Given the description of an element on the screen output the (x, y) to click on. 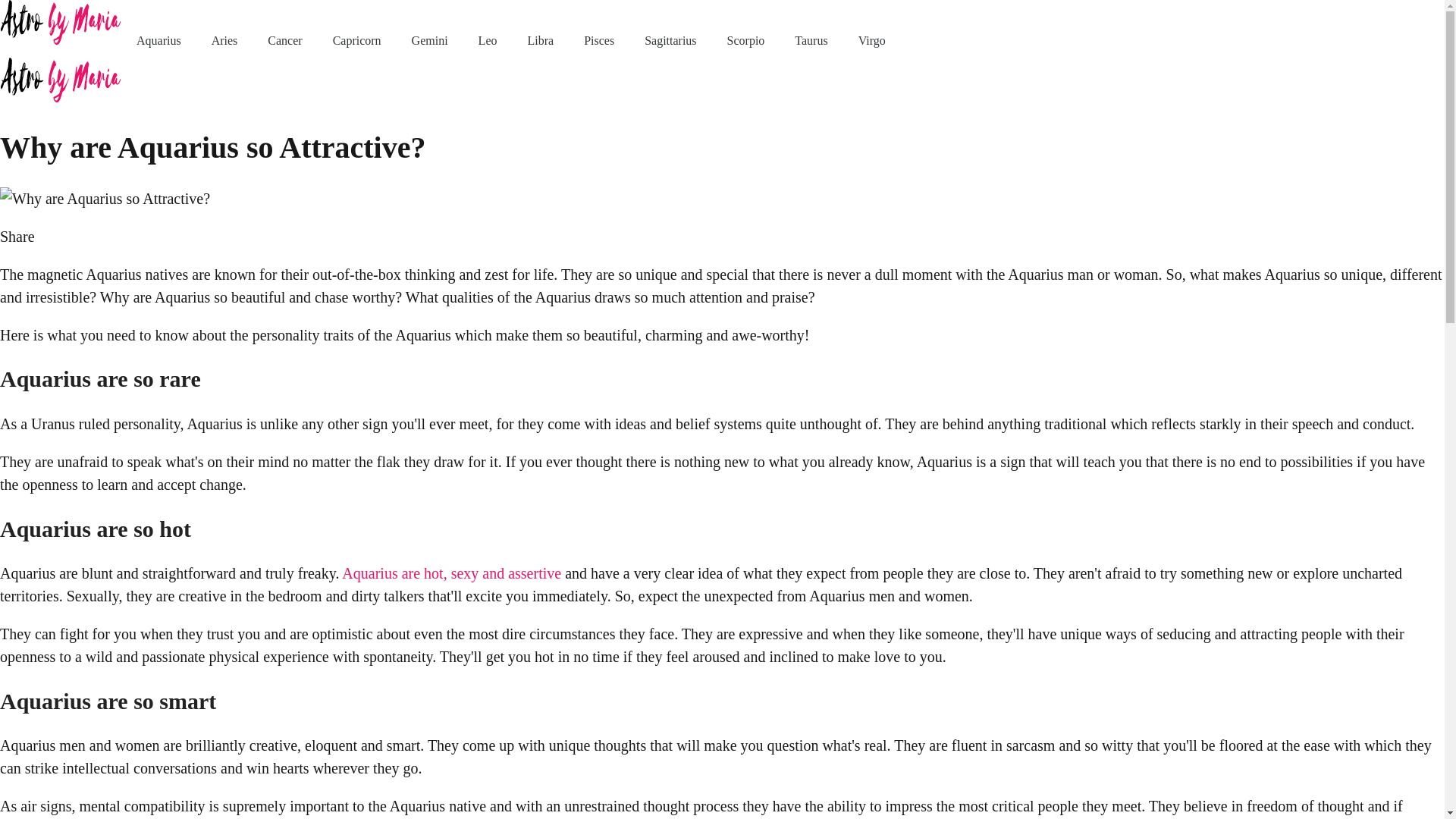
Aquarius are hot, sexy and assertive (451, 573)
Pisces (598, 40)
Aries (224, 40)
Capricorn (357, 40)
Gemini (430, 40)
Taurus (810, 40)
Virgo (872, 40)
Libra (540, 40)
Aquarius are so smart (107, 700)
Cancer (284, 40)
